Given the description of an element on the screen output the (x, y) to click on. 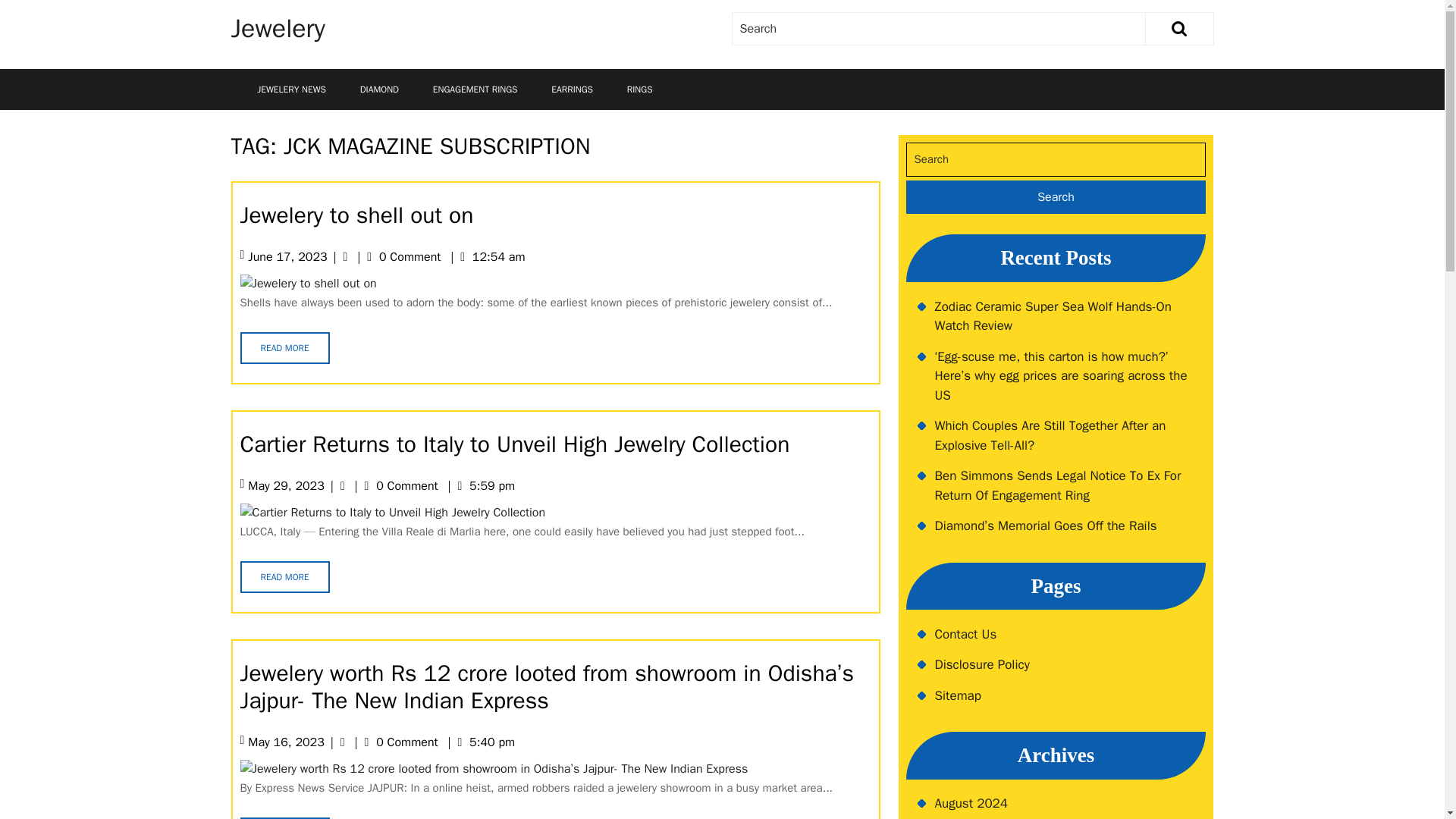
Search (1055, 196)
JEWELERY NEWS (291, 88)
May 29, 2023 (285, 485)
DIAMOND (379, 88)
Read More (284, 818)
EARRINGS (571, 88)
READ MORE (284, 576)
RINGS (639, 88)
Jewelery to shell out on (356, 215)
Search (1186, 29)
